Given the description of an element on the screen output the (x, y) to click on. 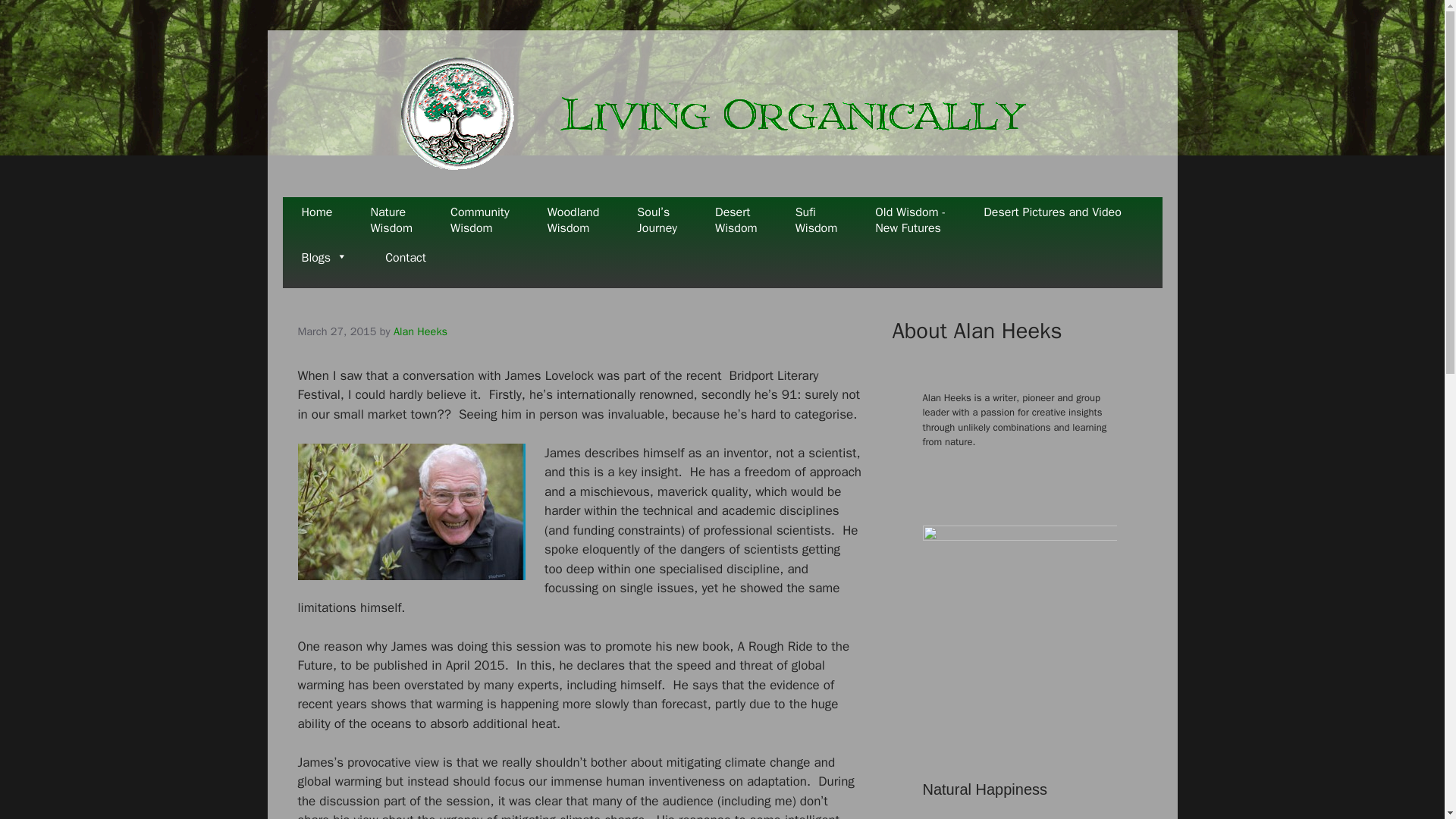
Desert Pictures and Video (573, 219)
Blogs (479, 219)
Home (1051, 219)
View all posts by Alan Heeks (735, 219)
Contact (324, 265)
Alan Heeks (316, 219)
